Given the description of an element on the screen output the (x, y) to click on. 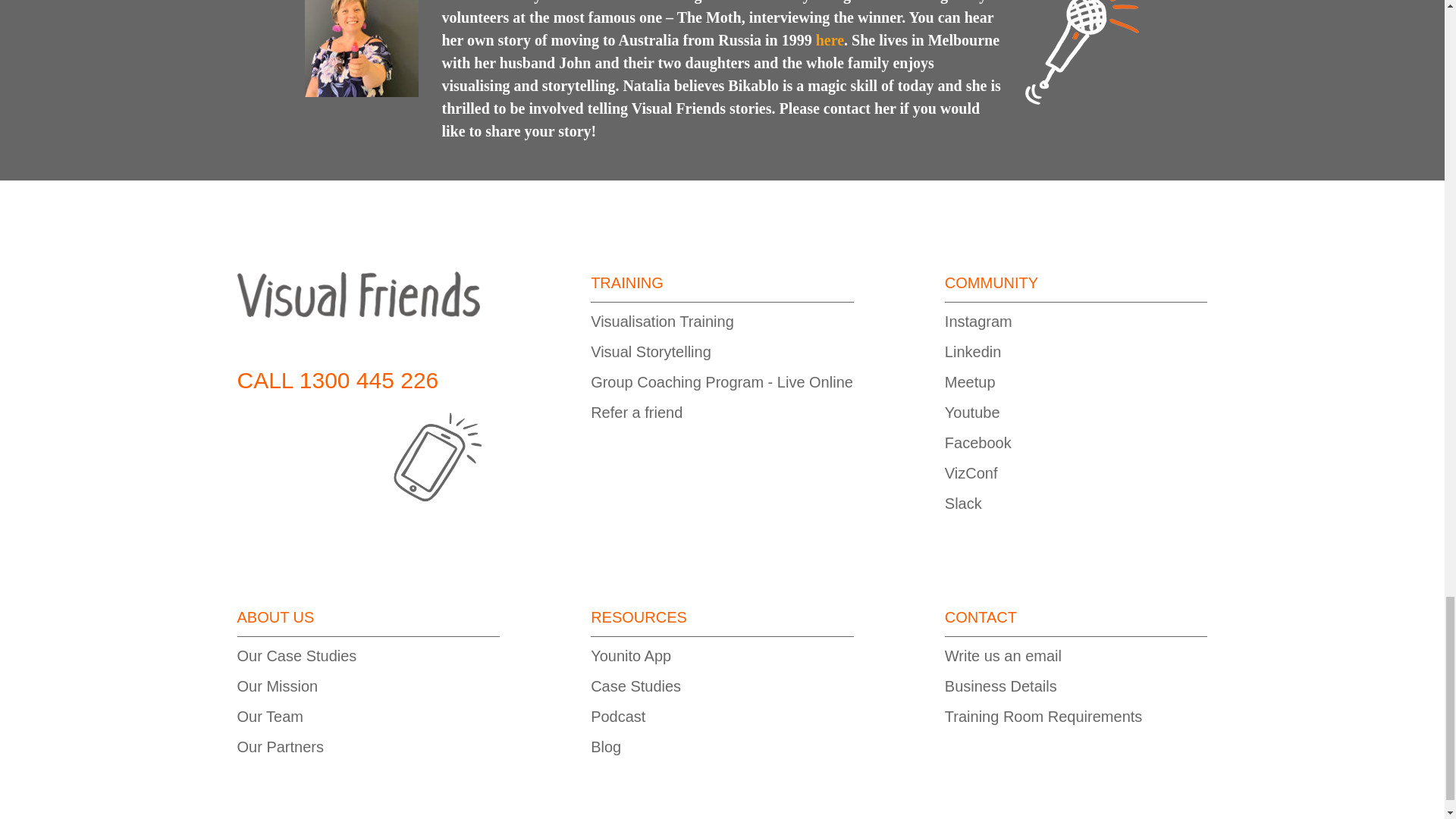
Linkedin (972, 351)
Write us an email (1002, 655)
Younito App (631, 655)
Visual Storytelling (651, 351)
VizConf (970, 473)
Our Team (268, 716)
Blog (606, 746)
here (829, 39)
Our Mission (276, 686)
Slack (962, 503)
Youtube (972, 412)
Podcast (618, 716)
Our Partners (279, 746)
Case Studies (636, 686)
Business Details (1000, 686)
